Given the description of an element on the screen output the (x, y) to click on. 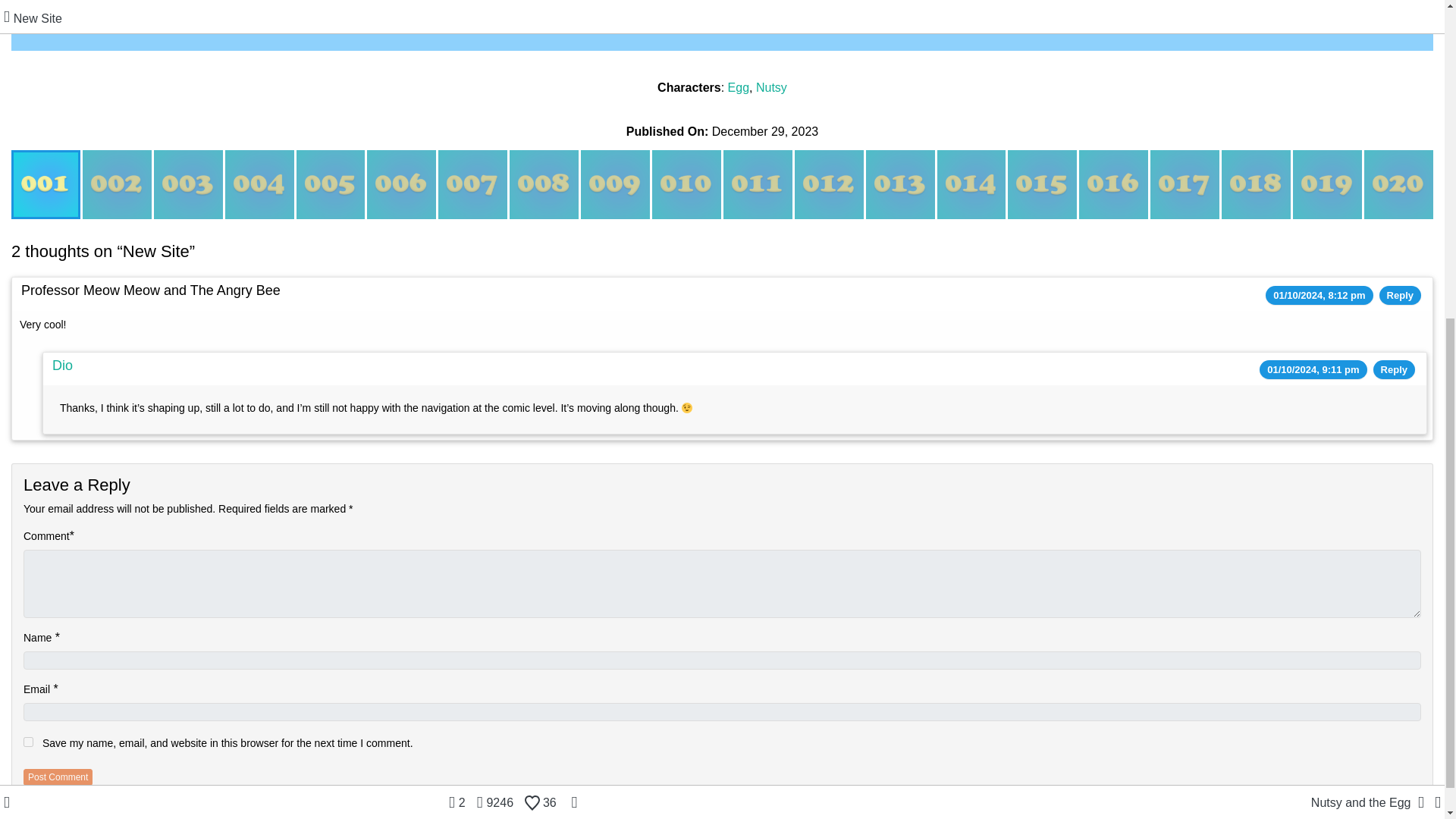
Home (262, 8)
yes (28, 741)
Comics (1181, 8)
AAIIEEEEE! (472, 184)
New Site (45, 184)
Face Palm (188, 184)
Post Comment (58, 777)
Egg (738, 87)
Nutsy (771, 87)
Eat Here or Take Out (400, 184)
